Given the description of an element on the screen output the (x, y) to click on. 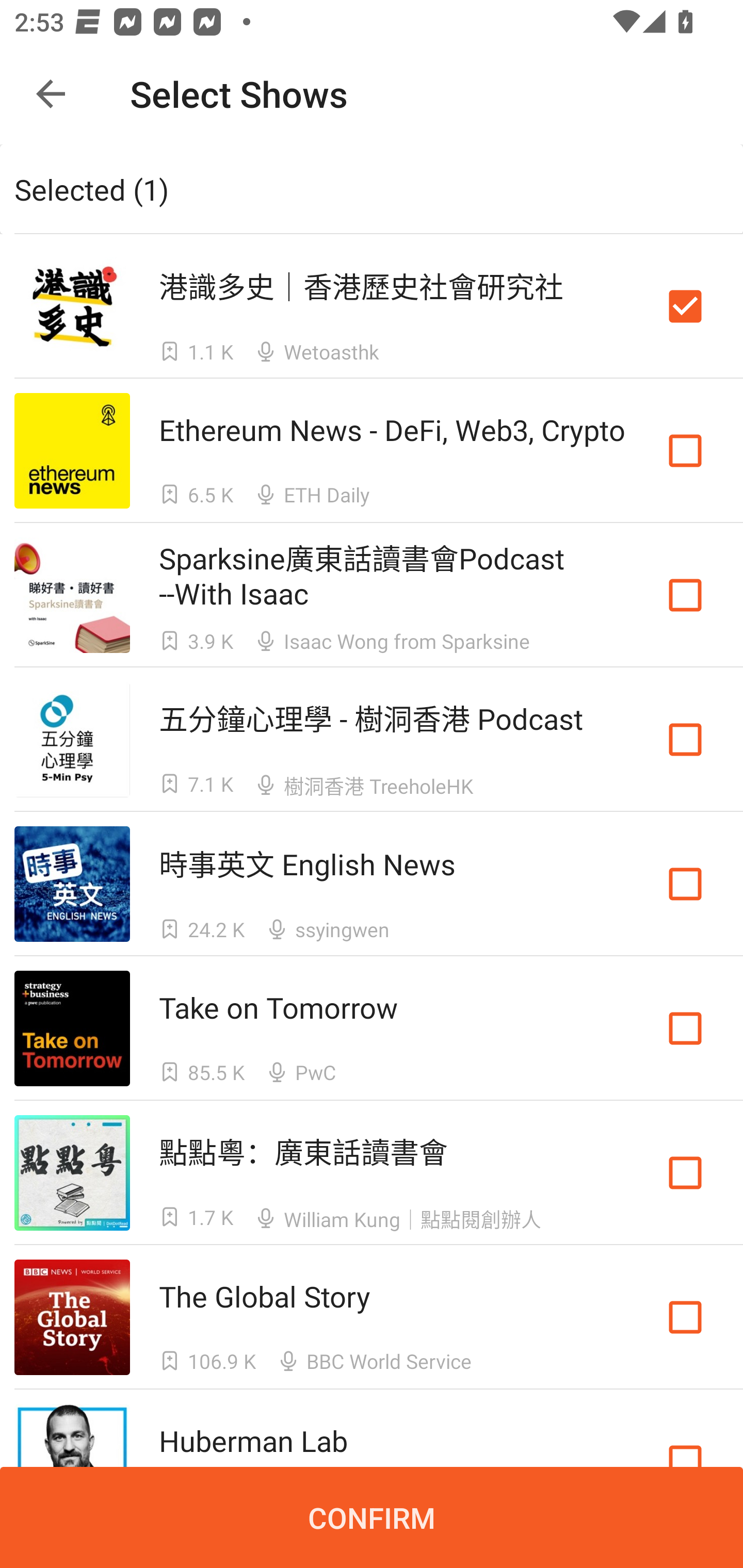
Navigate up (50, 93)
港識多史｜香港歷史社會研究社 港識多史｜香港歷史社會研究社  1.1 K  Wetoasthk (371, 305)
Take on Tomorrow Take on Tomorrow  85.5 K  PwC (371, 1028)
CONFIRM (371, 1517)
